Given the description of an element on the screen output the (x, y) to click on. 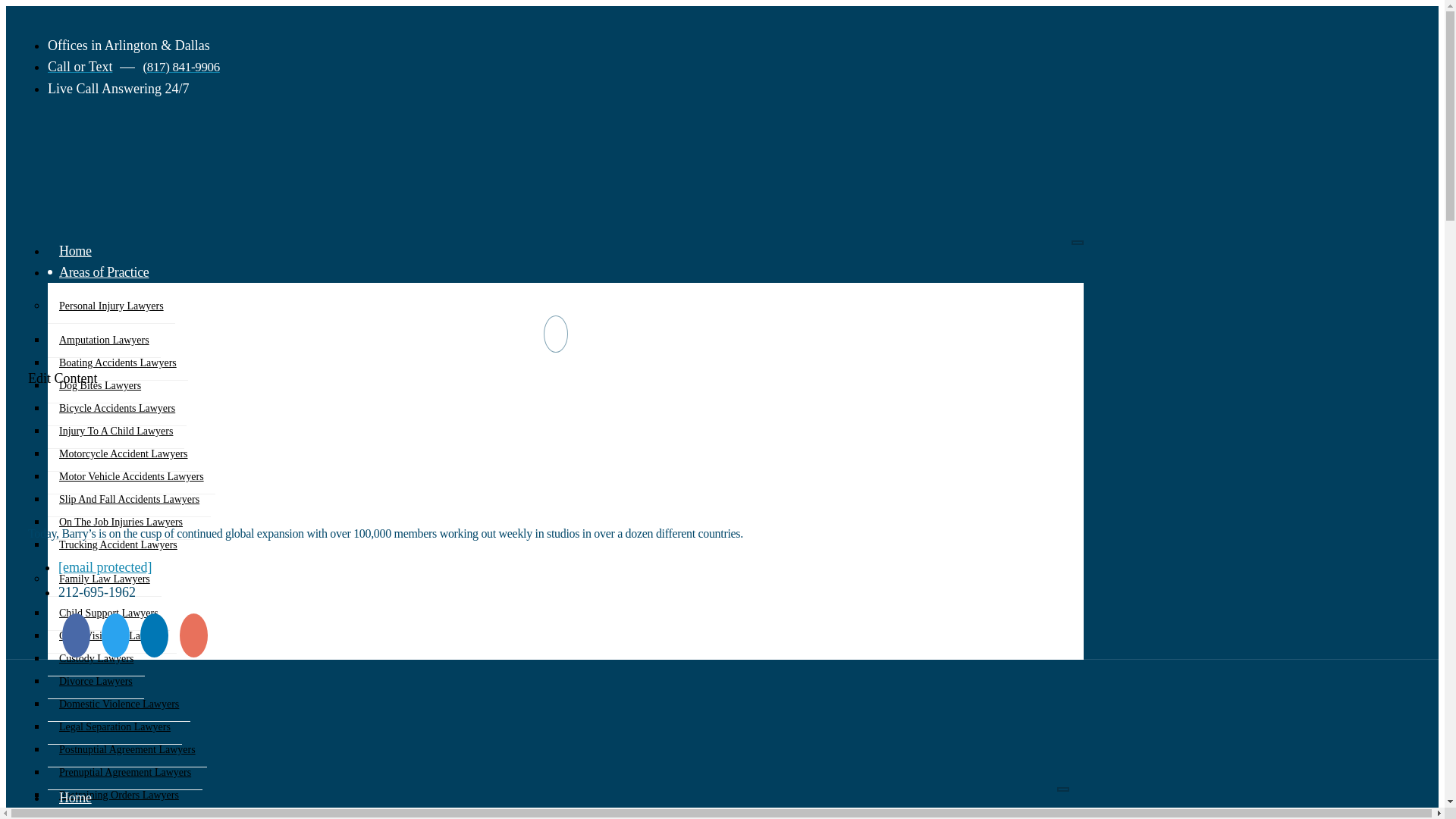
Child Support Lawyers (109, 613)
On The Job Injuries Lawyers (120, 522)
Motor Vehicle Accidents Lawyers (131, 476)
Divorce Lawyers (96, 681)
Restraining Orders Lawyers (119, 795)
Slip And Fall Accidents Lawyers (129, 499)
Domestic Violence Lawyers (119, 704)
Areas of Practice (104, 272)
Amputation Lawyers (104, 339)
Custody Lawyers (96, 658)
Personal Injury Lawyers (111, 306)
Dog Bites Lawyers (100, 385)
Child Visitation Lawyers (112, 636)
Prenuptial Agreement Lawyers (125, 772)
Bicycle Accidents Lawyers (117, 408)
